Given the description of an element on the screen output the (x, y) to click on. 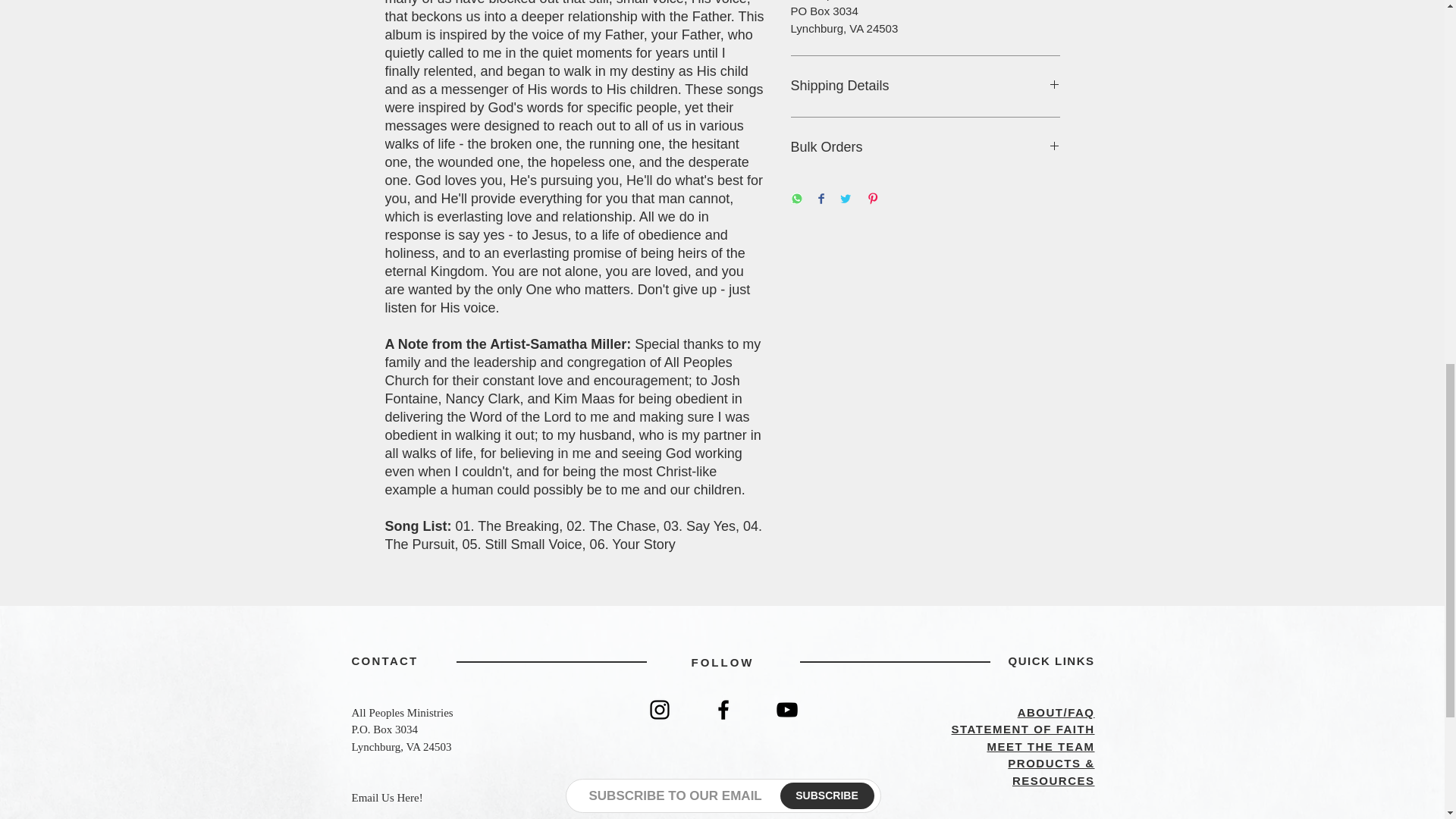
Shipping Details (924, 86)
SUBSCRIBE (825, 795)
MEET THE TEAM (1040, 746)
Email Us Here! (387, 797)
Bulk Orders (924, 147)
STATEMENT OF FAITH (1023, 728)
